Given the description of an element on the screen output the (x, y) to click on. 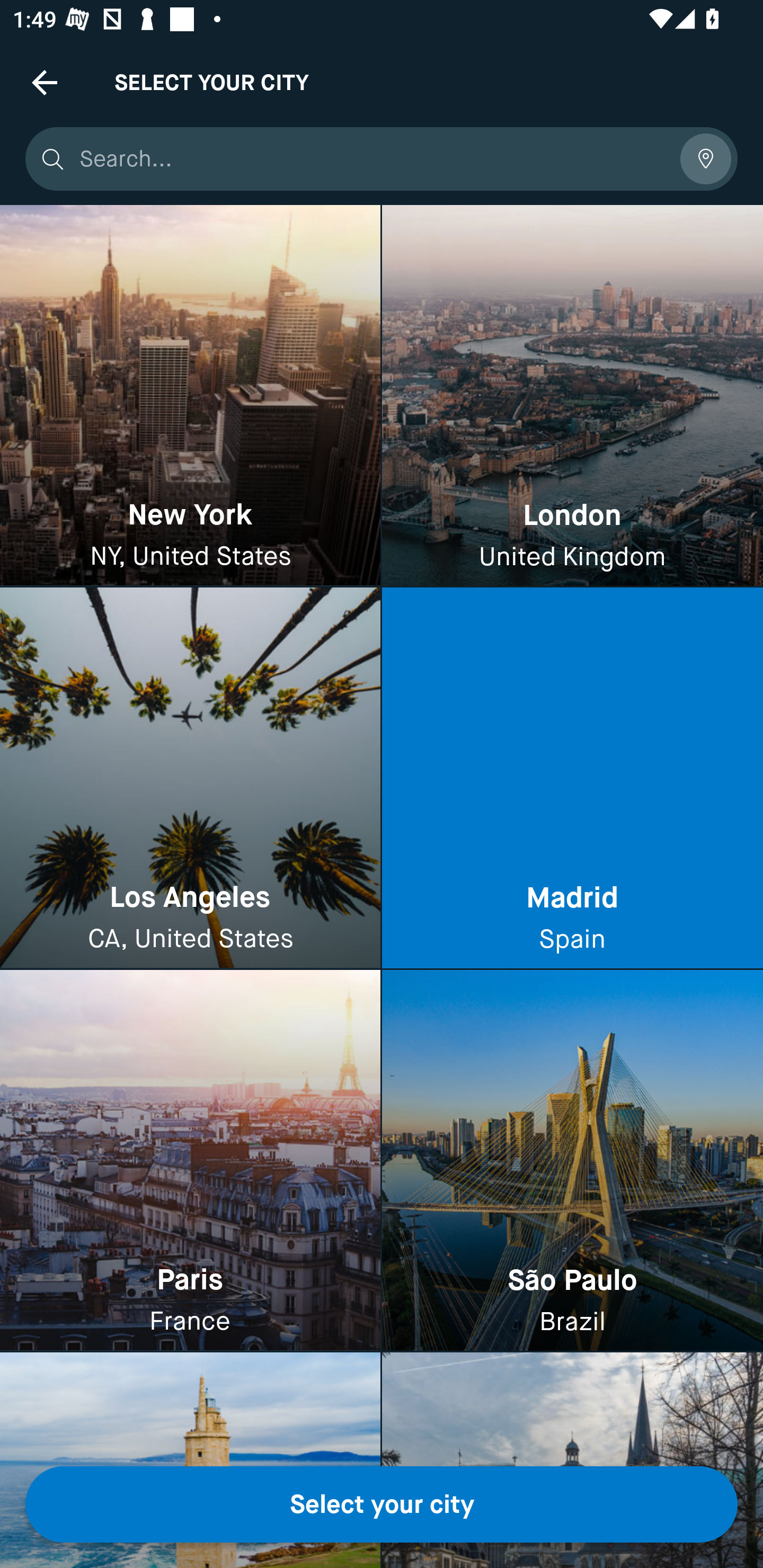
Navigate up (44, 82)
Search... (373, 159)
New York NY, United States (190, 395)
London United Kingdom (572, 395)
Los Angeles CA, United States (190, 778)
Madrid Spain (572, 778)
Paris France (190, 1160)
São Paulo Brazil (572, 1160)
Select your city (381, 1504)
